Given the description of an element on the screen output the (x, y) to click on. 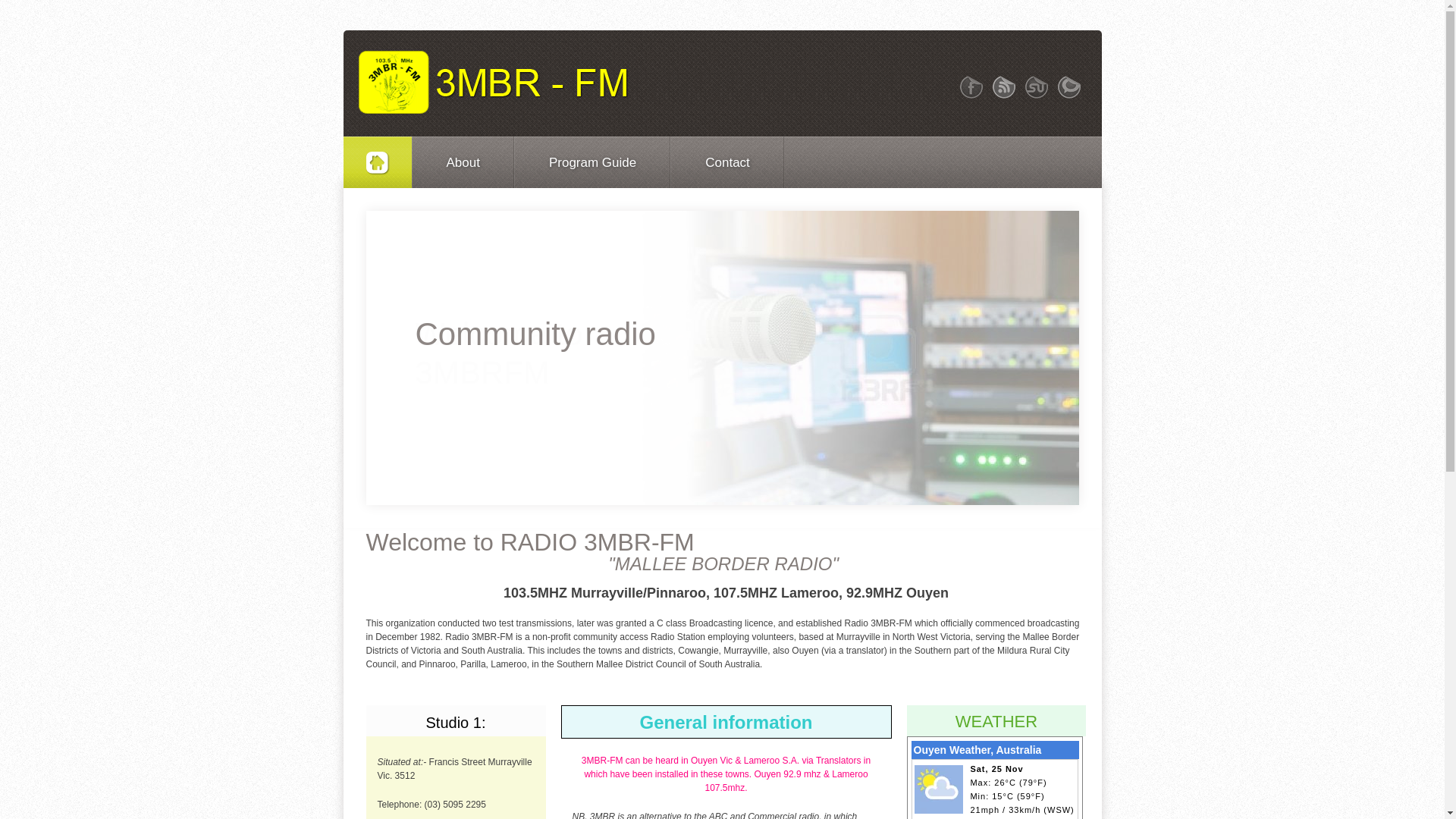
Facebook Element type: text (971, 86)
Home Element type: text (376, 162)
Program Guide Element type: text (592, 162)
Home Element type: hover (492, 81)
This site (RSS) Element type: text (1002, 86)
Contact Element type: text (727, 162)
Technorati Element type: text (1068, 86)
Stumbleuppon Element type: text (1036, 86)
Welcome to 3MBRFM Element type: text (721, 357)
About Element type: text (463, 162)
